Given the description of an element on the screen output the (x, y) to click on. 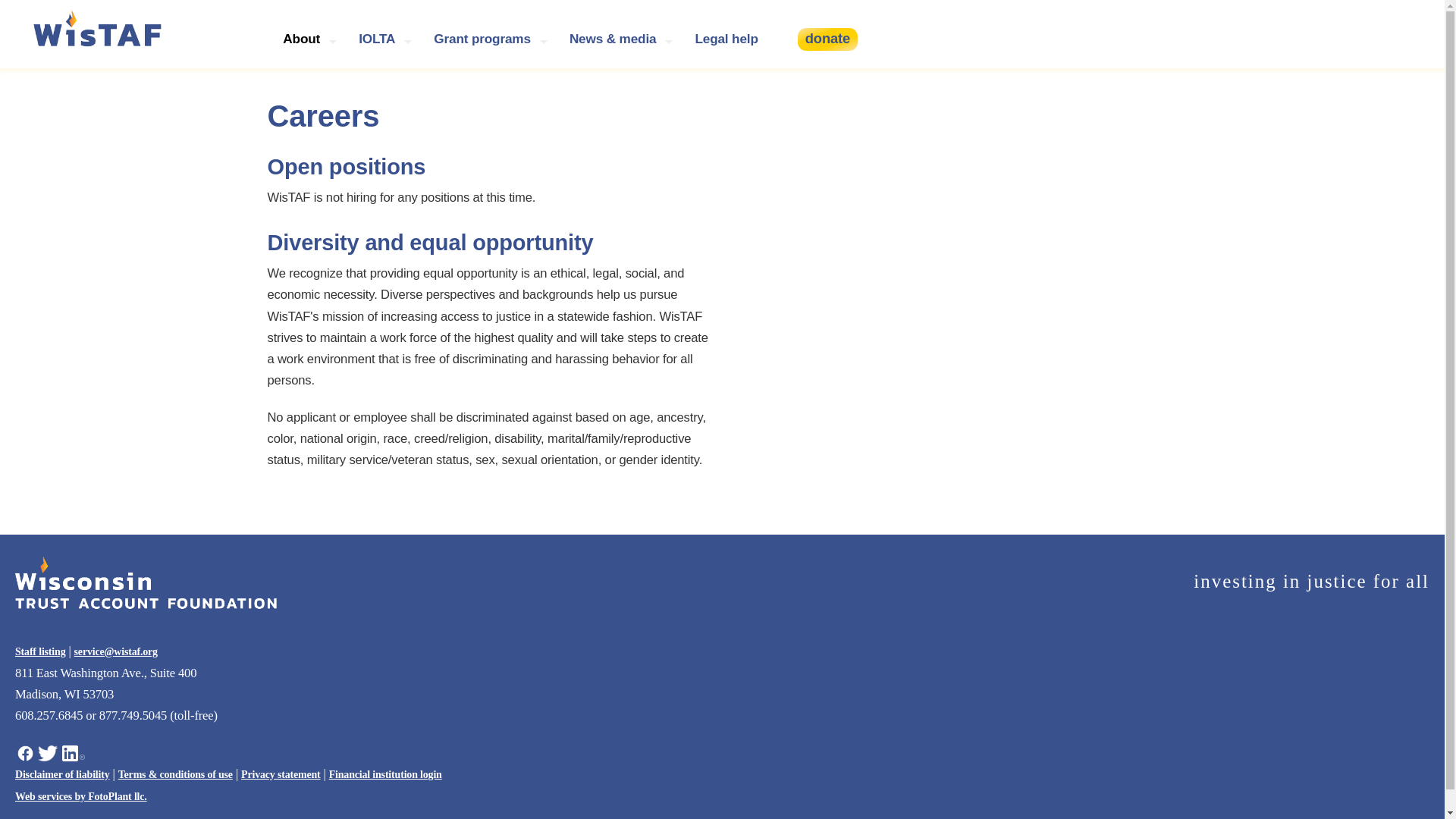
IOLTA (383, 39)
Legal help (725, 39)
About (306, 39)
Staff listing (39, 651)
Privacy statement (280, 774)
donate (827, 38)
Grant programs (488, 39)
Disclaimer of liability (62, 774)
